Given the description of an element on the screen output the (x, y) to click on. 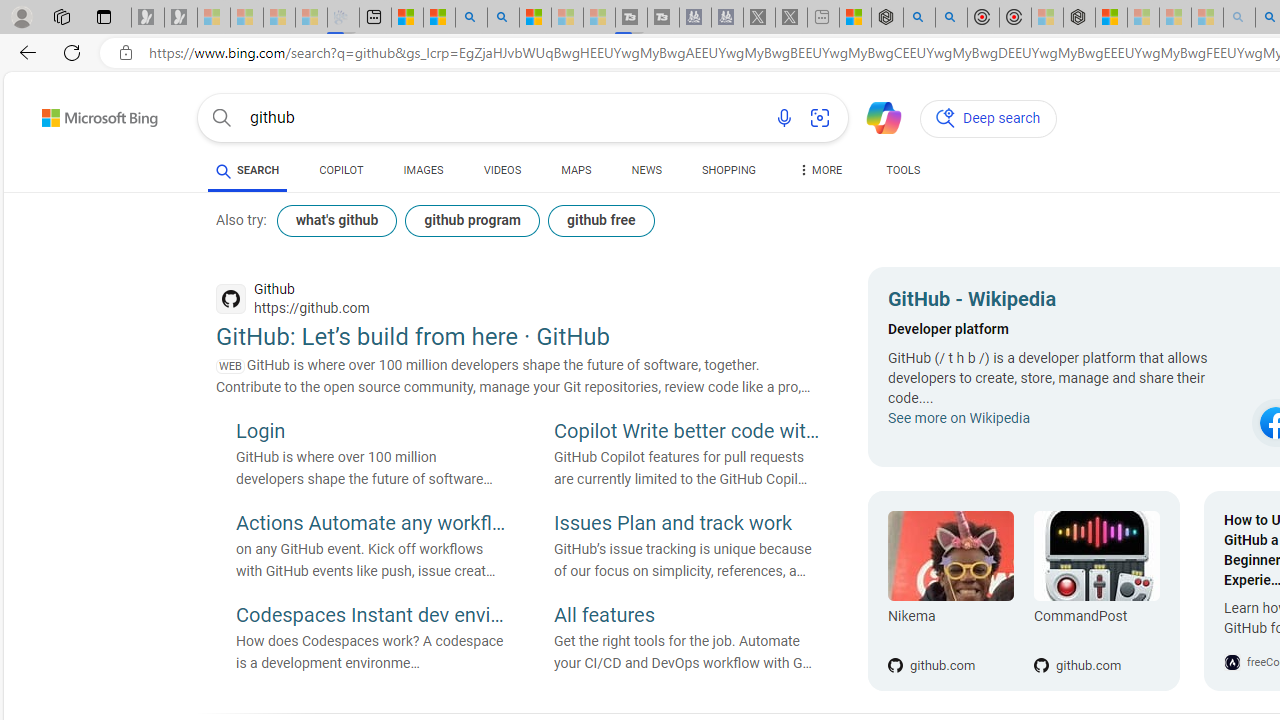
Nordace - Nordace Siena Is Not An Ordinary Backpack (1078, 17)
SHOPPING (728, 170)
CommandPost (1096, 556)
Search button (221, 117)
TOOLS (903, 170)
Search using an image (820, 117)
